Given the description of an element on the screen output the (x, y) to click on. 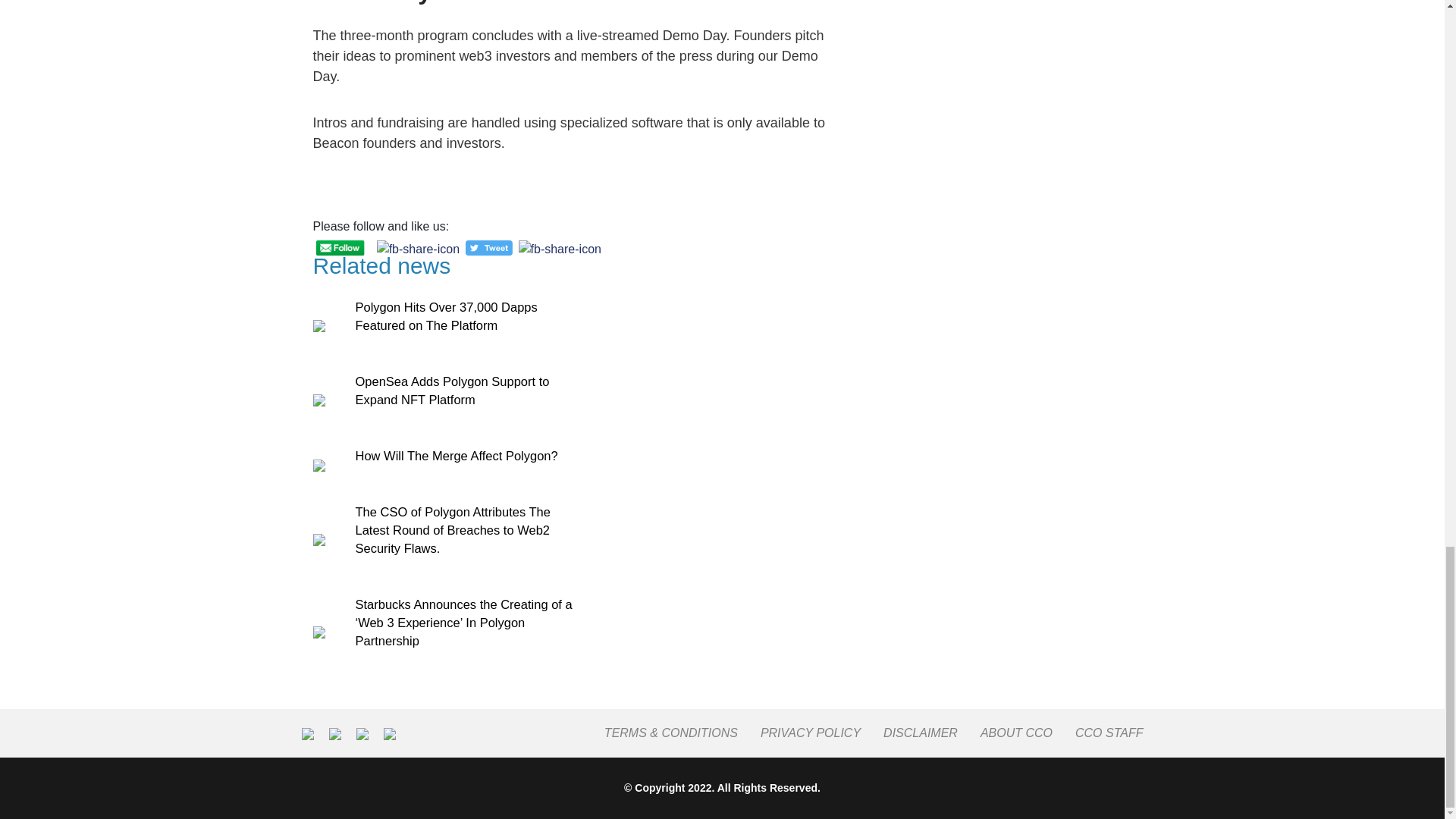
How Will The Merge Affect Polygon? (456, 455)
OpenSea Adds Polygon Support to Expand NFT Platform (451, 390)
Polygon Hits Over 37,000 Dapps Featured on The Platform (446, 316)
